Given the description of an element on the screen output the (x, y) to click on. 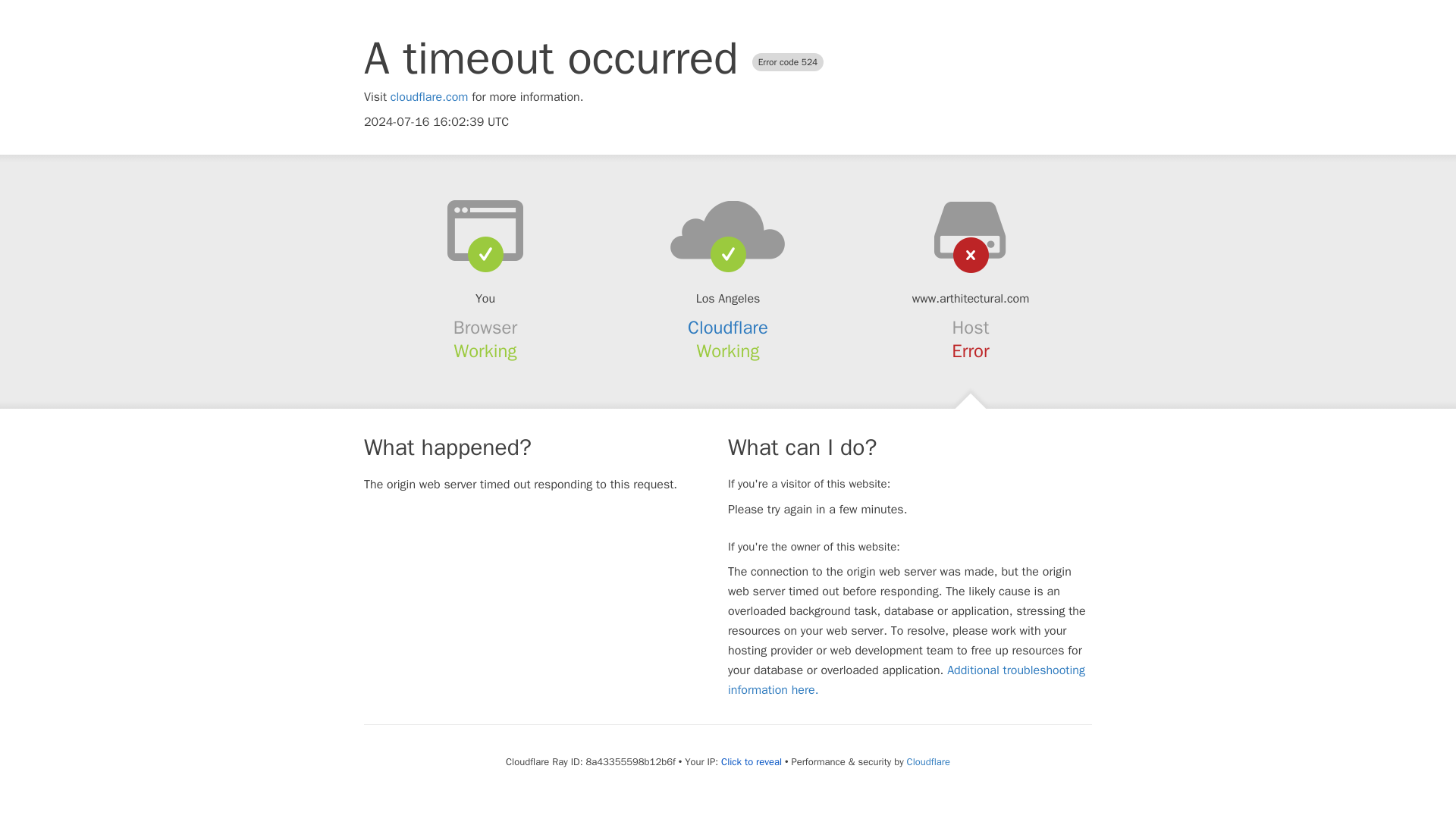
Additional troubleshooting information here. (906, 679)
cloudflare.com (429, 96)
Click to reveal (750, 762)
Cloudflare (928, 761)
Cloudflare (727, 327)
